Given the description of an element on the screen output the (x, y) to click on. 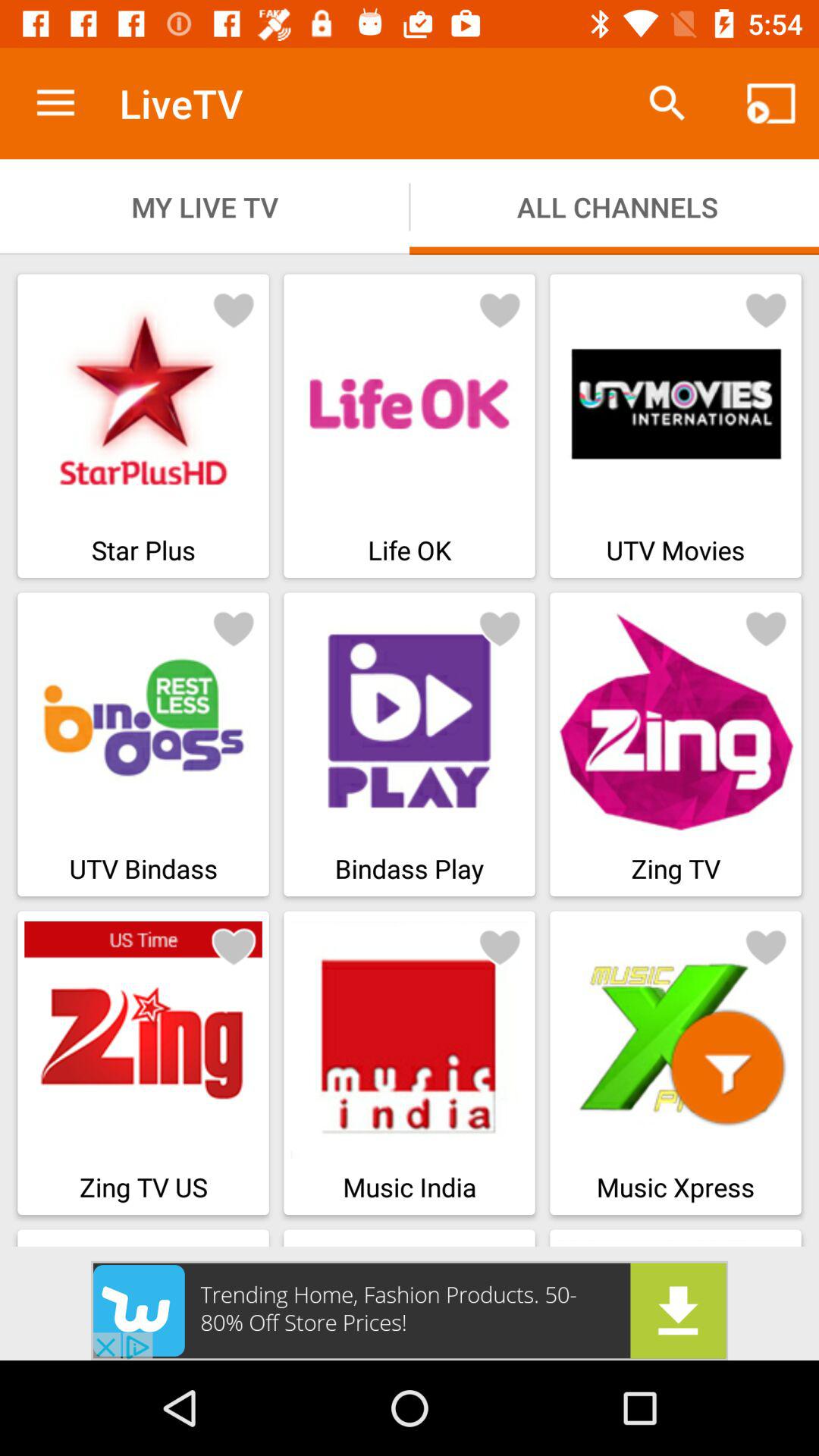
like button (499, 946)
